Given the description of an element on the screen output the (x, y) to click on. 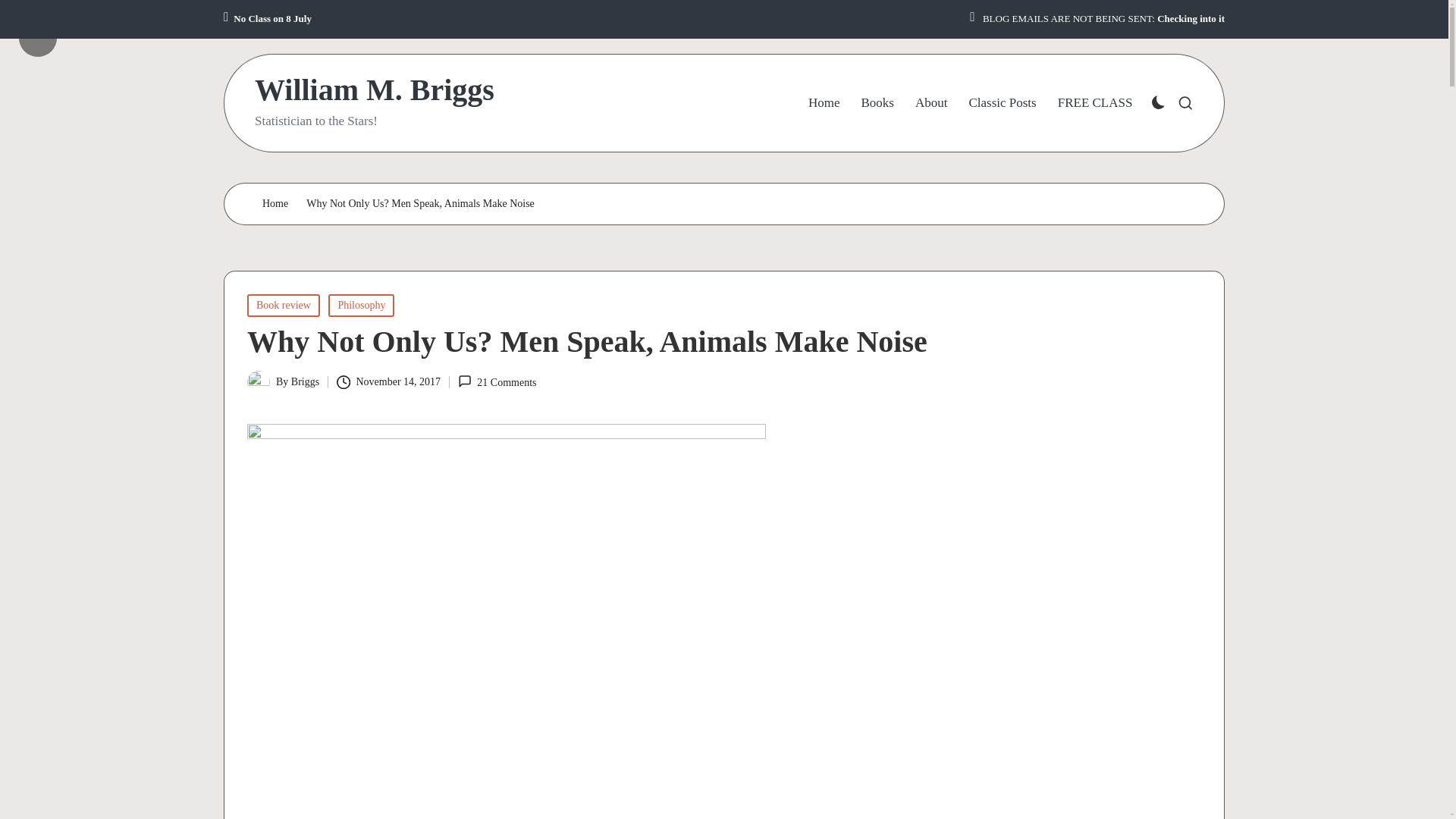
William M. Briggs (374, 90)
Books (876, 103)
Book review (283, 305)
Classic Posts (1001, 103)
Home (824, 103)
Checking into it (1190, 18)
View all posts by Briggs (304, 381)
21 Comments (496, 381)
Philosophy (361, 305)
Home (275, 203)
Briggs (304, 381)
FREE CLASS (1095, 103)
About (931, 103)
